Given the description of an element on the screen output the (x, y) to click on. 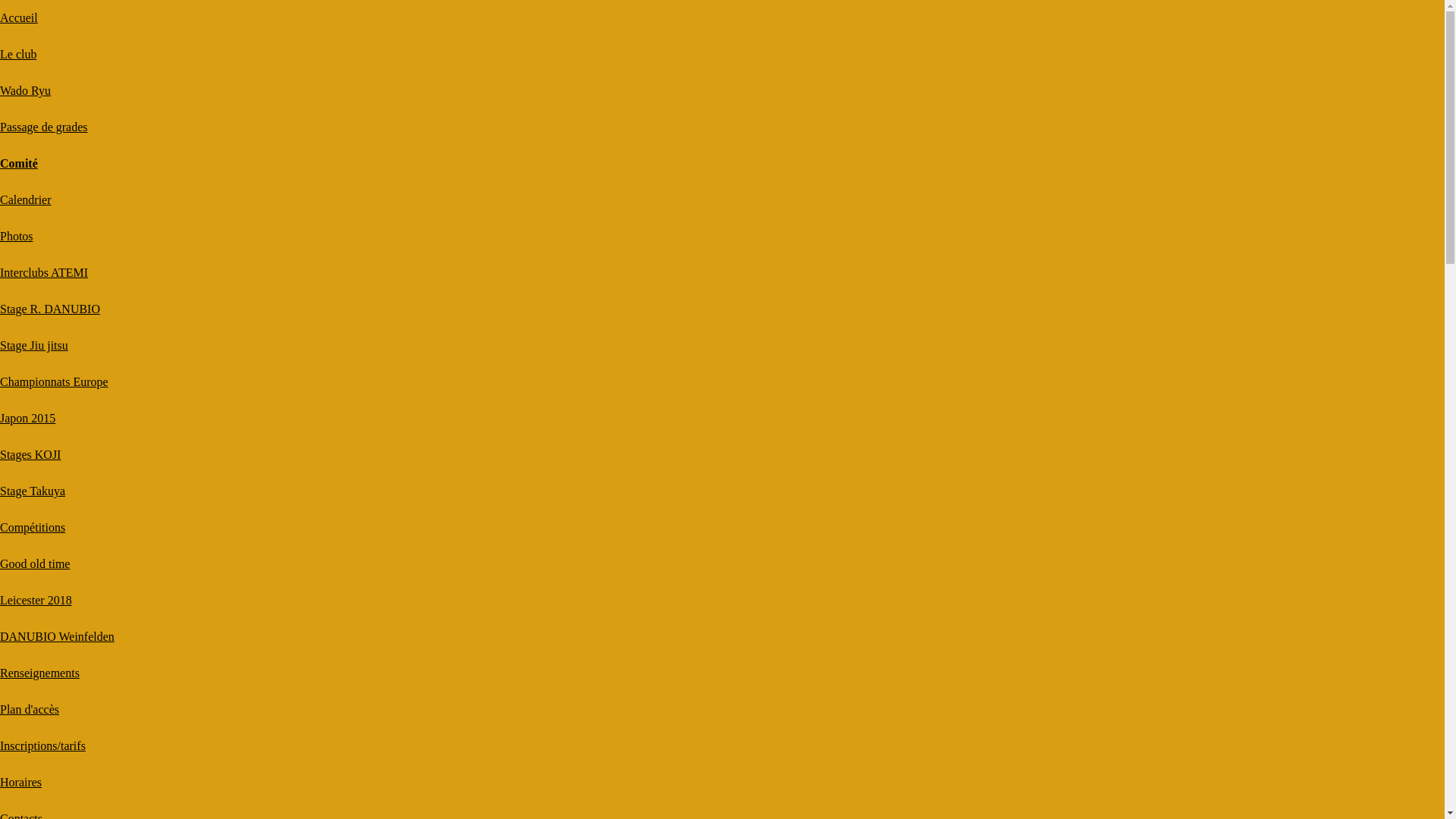
Wado Ryu Element type: text (25, 90)
Renseignements Element type: text (39, 672)
Good old time Element type: text (34, 563)
Le club Element type: text (18, 53)
Stage R. DANUBIO Element type: text (50, 308)
Horaires Element type: text (20, 781)
Stage Jiu jitsu Element type: text (34, 344)
Calendrier Element type: text (25, 199)
Leicester 2018 Element type: text (36, 599)
Championnats Europe Element type: text (54, 381)
Interclubs ATEMI Element type: text (43, 272)
Japon 2015 Element type: text (27, 417)
Stages KOJI Element type: text (30, 454)
Accueil Element type: text (18, 17)
Inscriptions/tarifs Element type: text (42, 745)
DANUBIO Weinfelden Element type: text (57, 636)
Stage Takuya Element type: text (32, 490)
Photos Element type: text (16, 235)
Passage de grades Element type: text (43, 126)
